Given the description of an element on the screen output the (x, y) to click on. 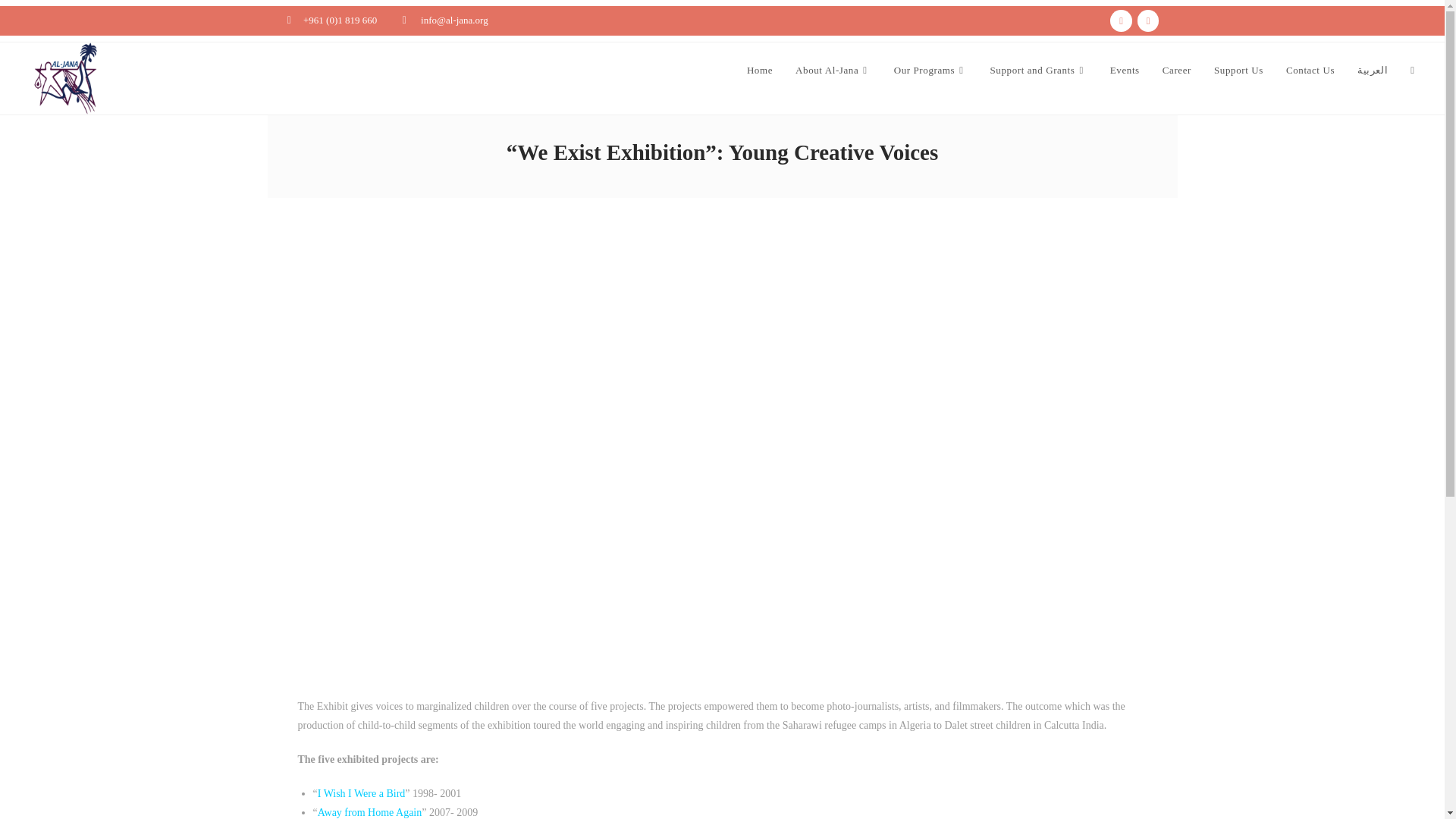
Career (1176, 70)
About Al-Jana (833, 70)
Our Programs (930, 70)
Support and Grants (1038, 70)
Events (1125, 70)
